Given the description of an element on the screen output the (x, y) to click on. 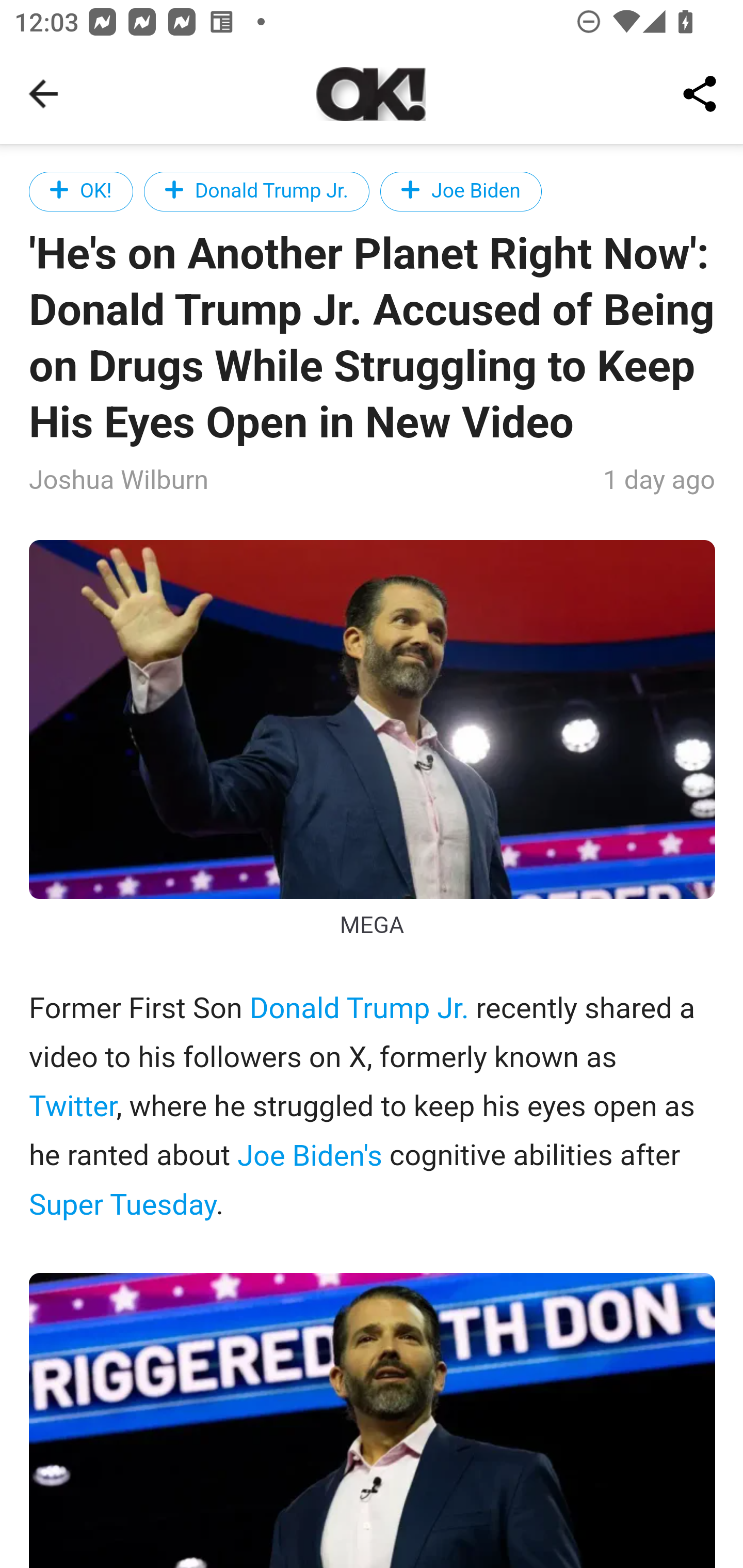
OK! (80, 191)
Donald Trump Jr. (256, 191)
Joe Biden (459, 191)
Donald Trump Jr. (358, 1009)
Twitter (72, 1106)
Joe Biden's (309, 1155)
Super Tuesday (122, 1203)
